Given the description of an element on the screen output the (x, y) to click on. 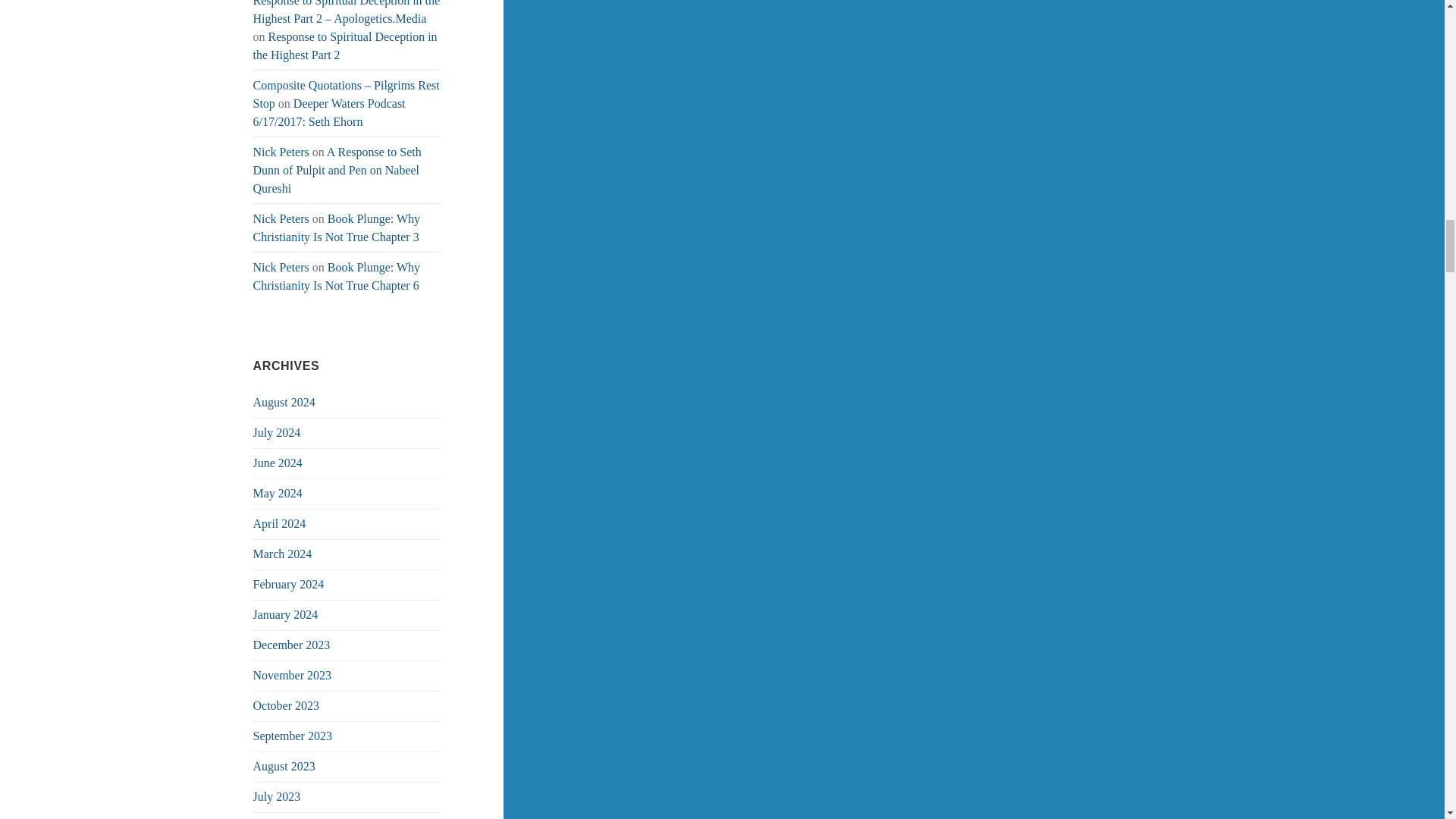
Nick Peters (280, 218)
Book Plunge: Why Christianity Is Not True Chapter 3 (336, 227)
Nick Peters (280, 151)
A Response to Seth Dunn of Pulpit and Pen on Nabeel Qureshi (337, 169)
Response to Spiritual Deception in the Highest Part 2 (345, 45)
